Given the description of an element on the screen output the (x, y) to click on. 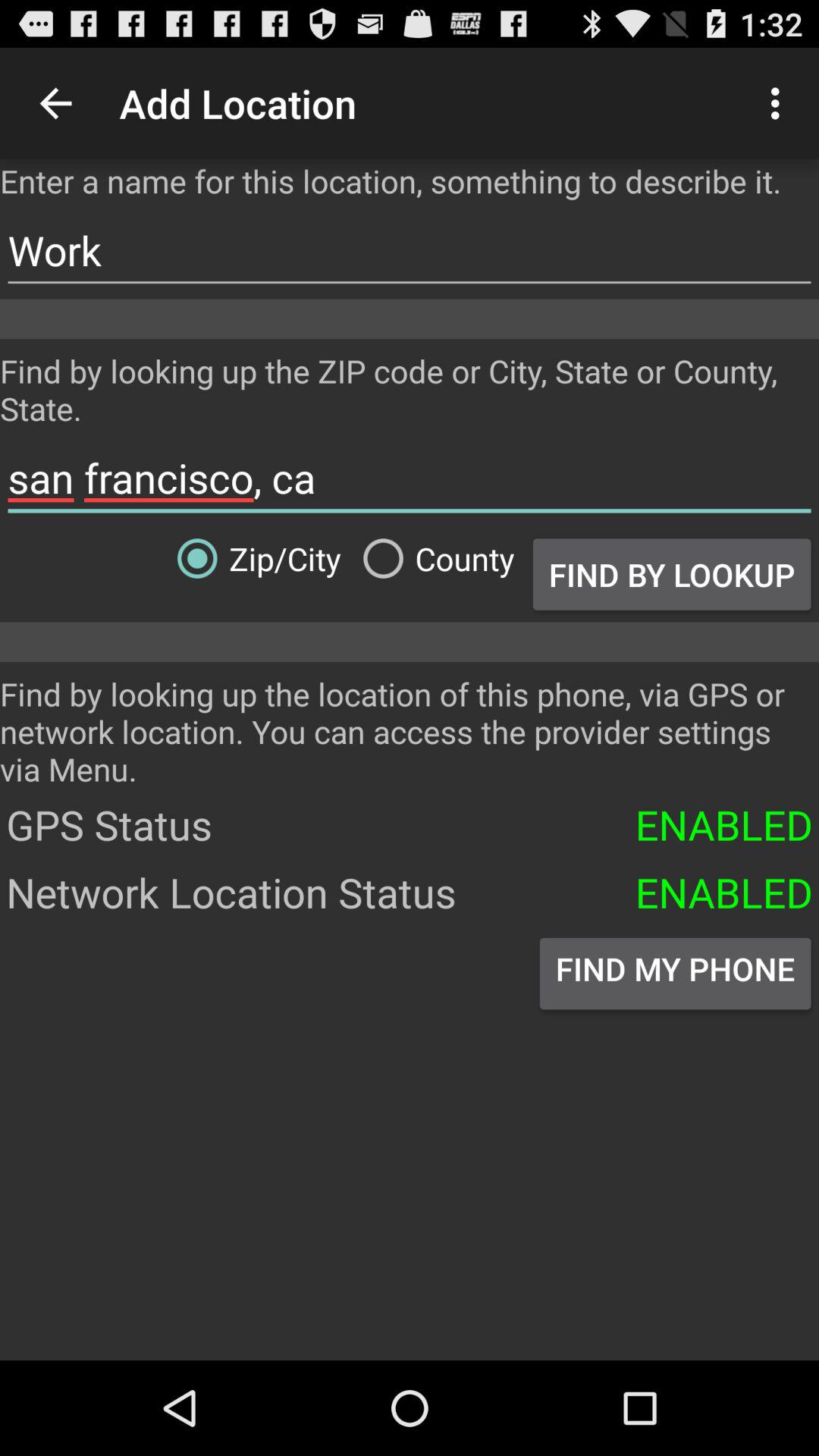
scroll until the san francisco, ca item (409, 477)
